Given the description of an element on the screen output the (x, y) to click on. 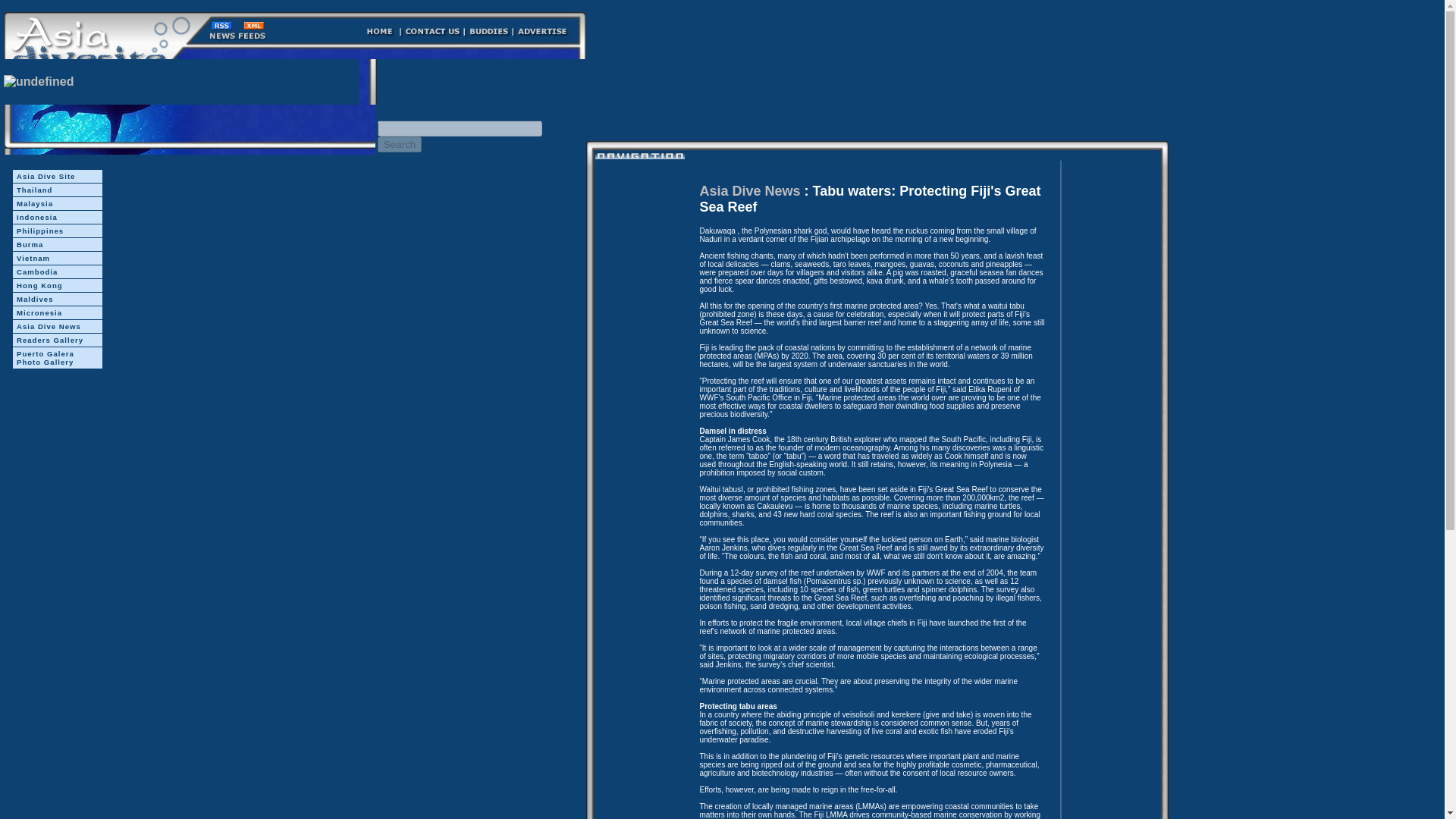
Malaysia dive sites (57, 203)
Search (399, 144)
Asia Dive Site (57, 175)
Thailand dive sites (57, 189)
Indonesia (57, 216)
Asia Dive Site (57, 175)
Malaysia (57, 203)
Thailand (57, 189)
Search (399, 144)
